Given the description of an element on the screen output the (x, y) to click on. 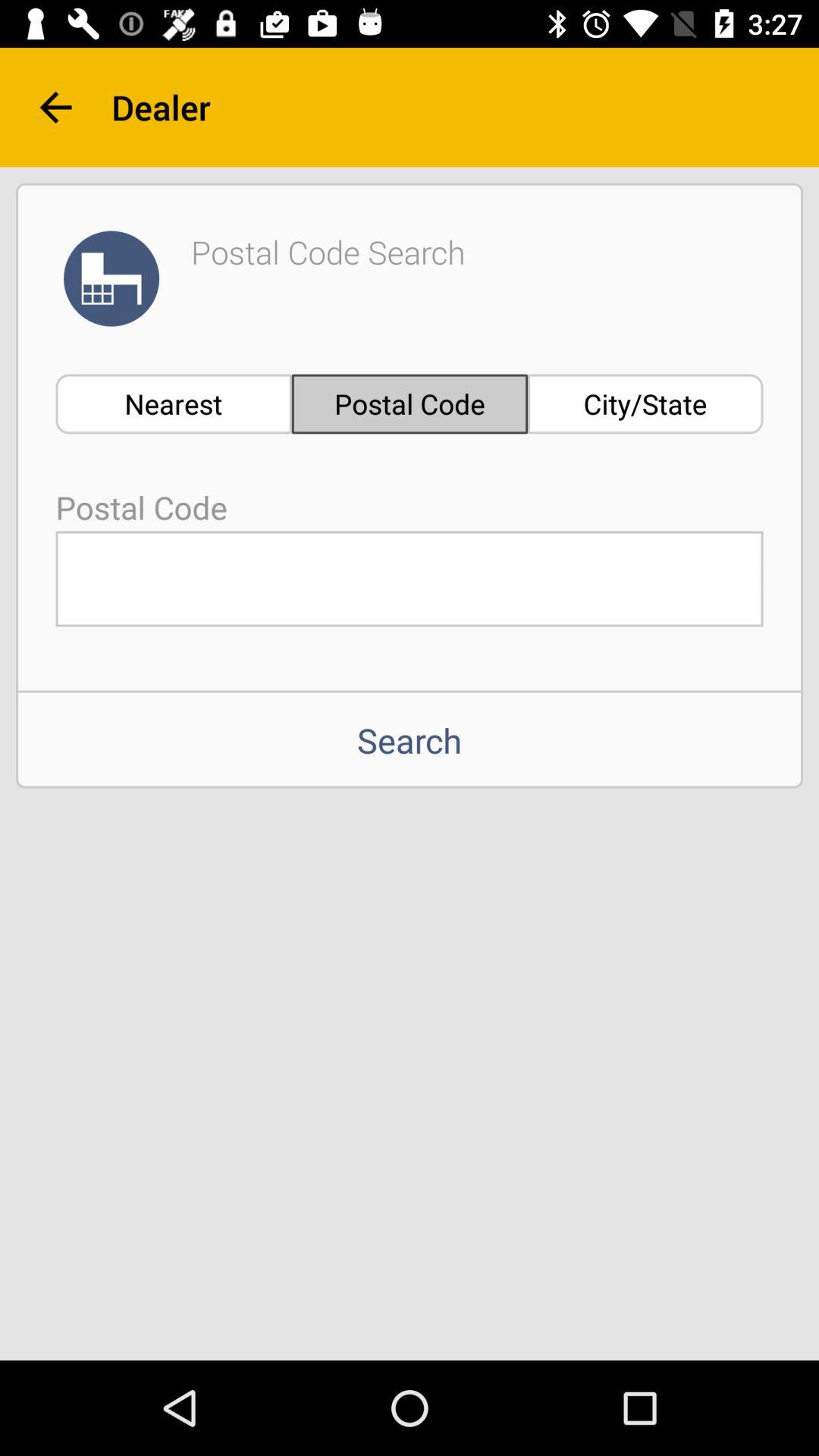
turn on item next to the dealer item (55, 107)
